Given the description of an element on the screen output the (x, y) to click on. 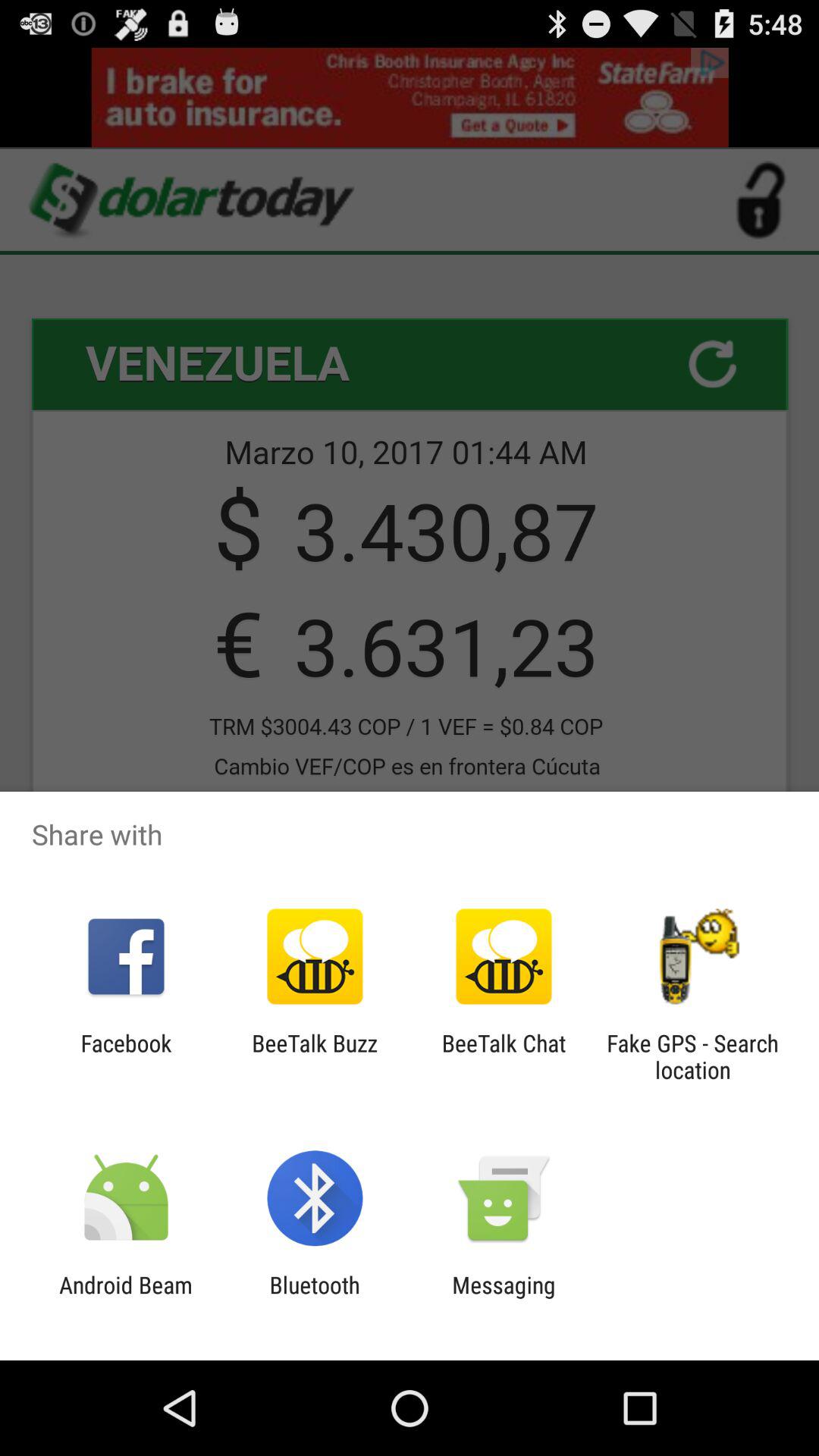
open the beetalk chat icon (503, 1056)
